Given the description of an element on the screen output the (x, y) to click on. 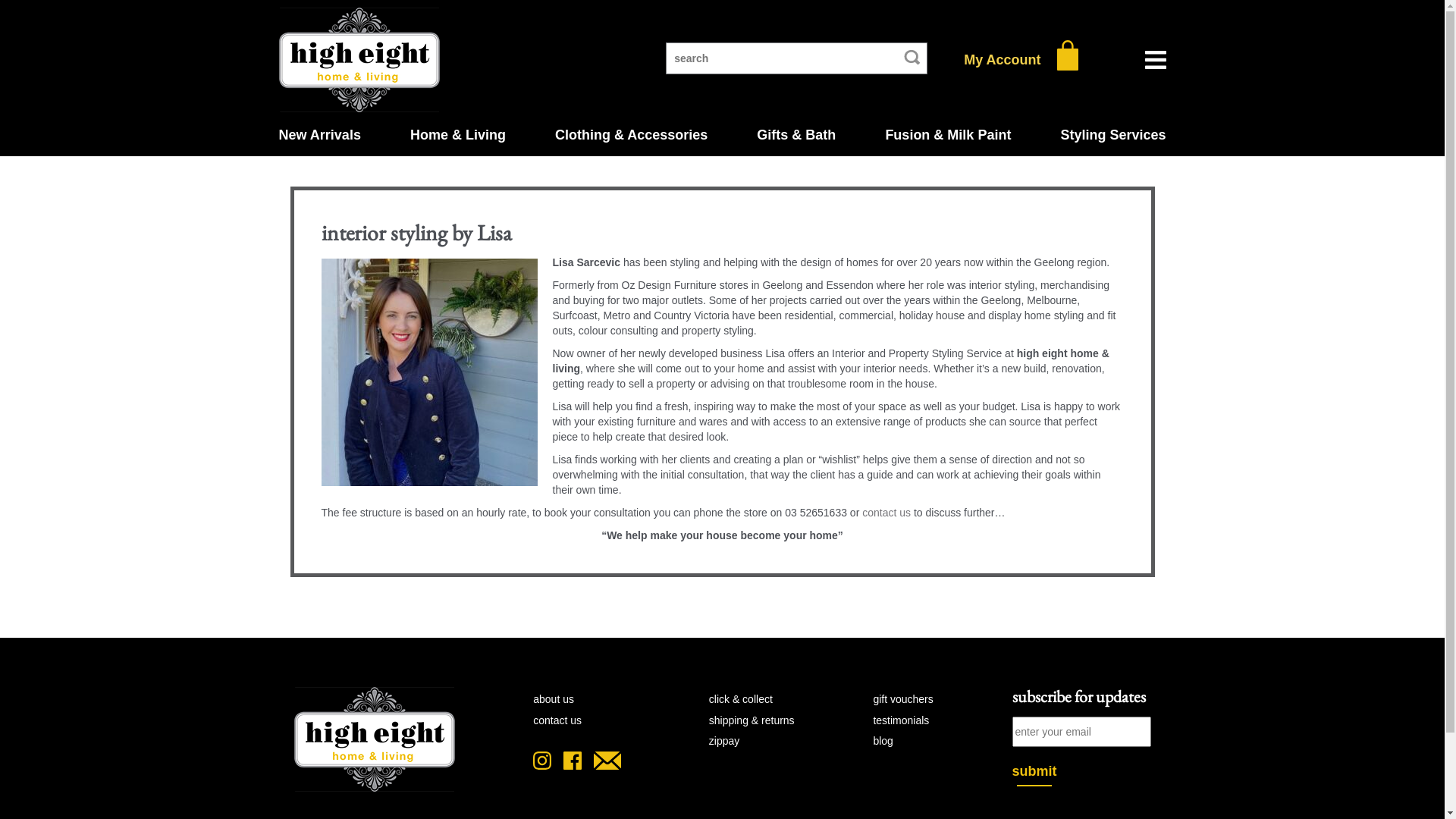
zippay Element type: text (724, 740)
Styling Services Element type: text (1112, 134)
gift vouchers Element type: text (902, 699)
high eight home & living Element type: hover (374, 746)
blog Element type: text (882, 740)
Home & Living Element type: text (457, 134)
Gifts & Bath Element type: text (795, 134)
submit Element type: text (1033, 774)
click & collect Element type: text (740, 699)
New Arrivals Element type: text (319, 134)
contact us Element type: text (886, 512)
Search for: Element type: hover (796, 58)
contact us Element type: text (557, 720)
high eight home & living Element type: hover (359, 59)
testimonials Element type: text (900, 720)
shipping & returns Element type: text (751, 720)
  Element type: text (1067, 59)
about us Element type: text (553, 699)
Clothing & Accessories Element type: text (631, 134)
Fusion & Milk Paint Element type: text (947, 134)
My Account Element type: text (1001, 59)
